Given the description of an element on the screen output the (x, y) to click on. 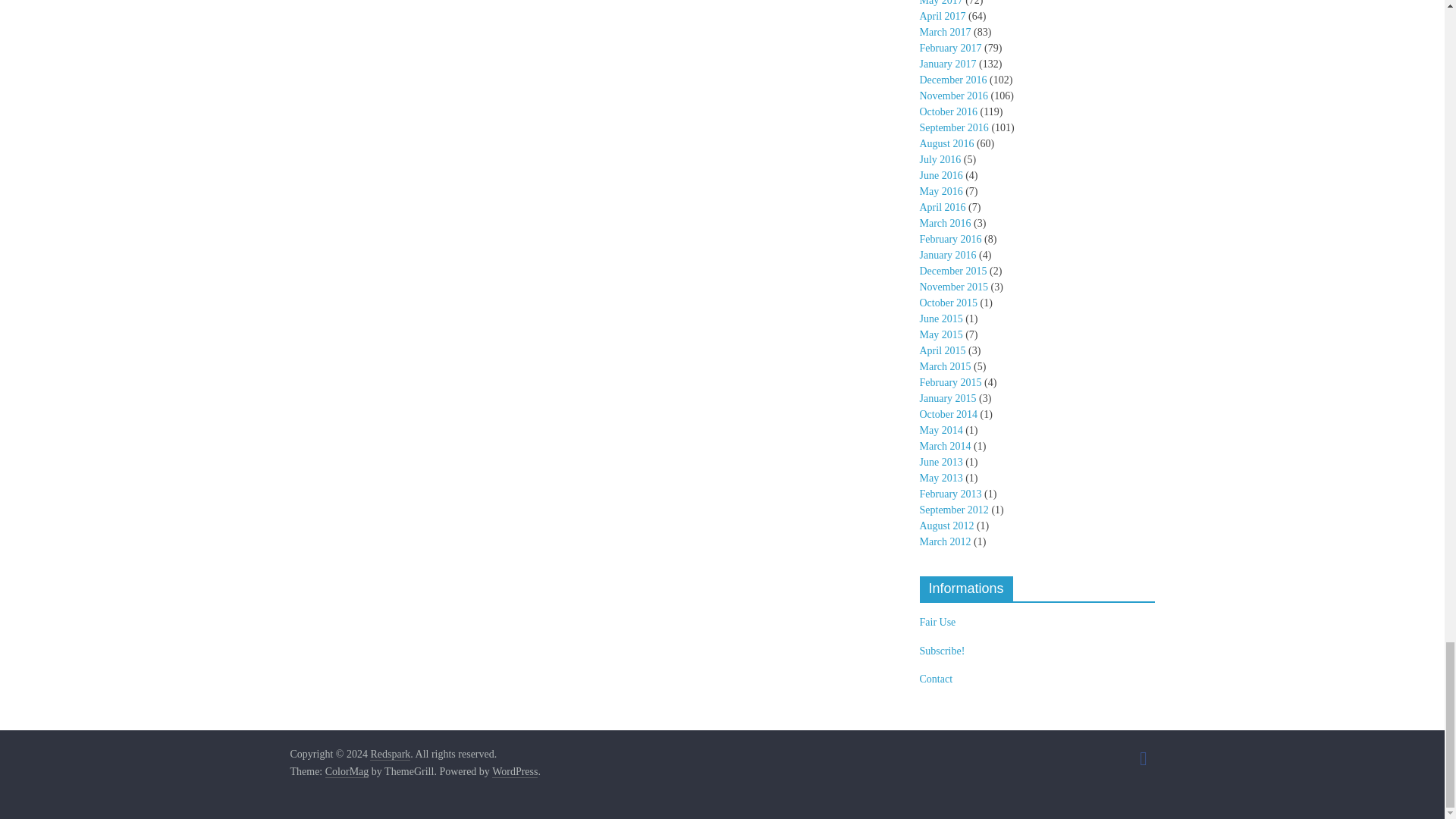
Redspark (389, 754)
ColorMag (346, 771)
WordPress (514, 771)
